Given the description of an element on the screen output the (x, y) to click on. 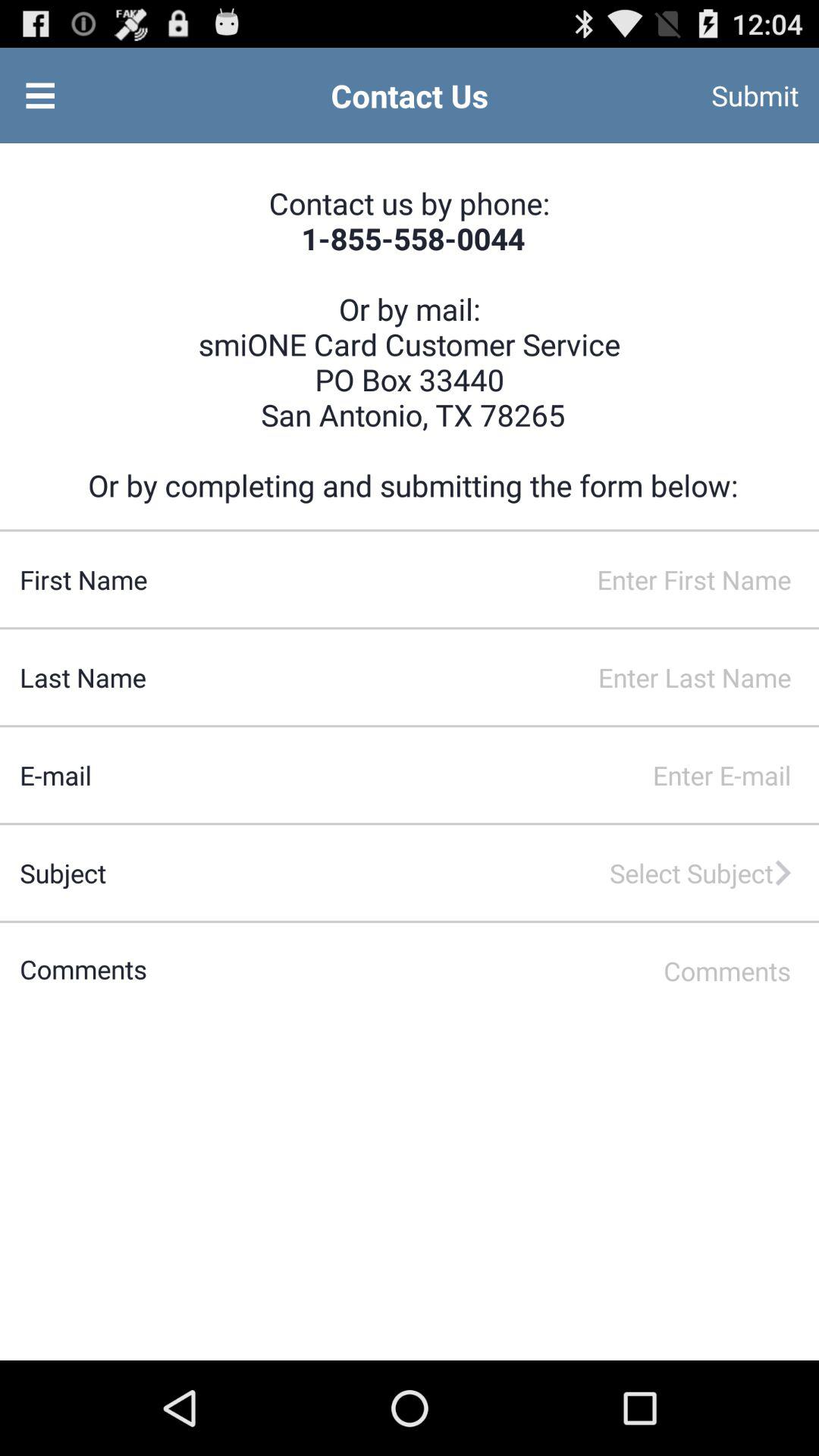
enter first name (483, 579)
